Given the description of an element on the screen output the (x, y) to click on. 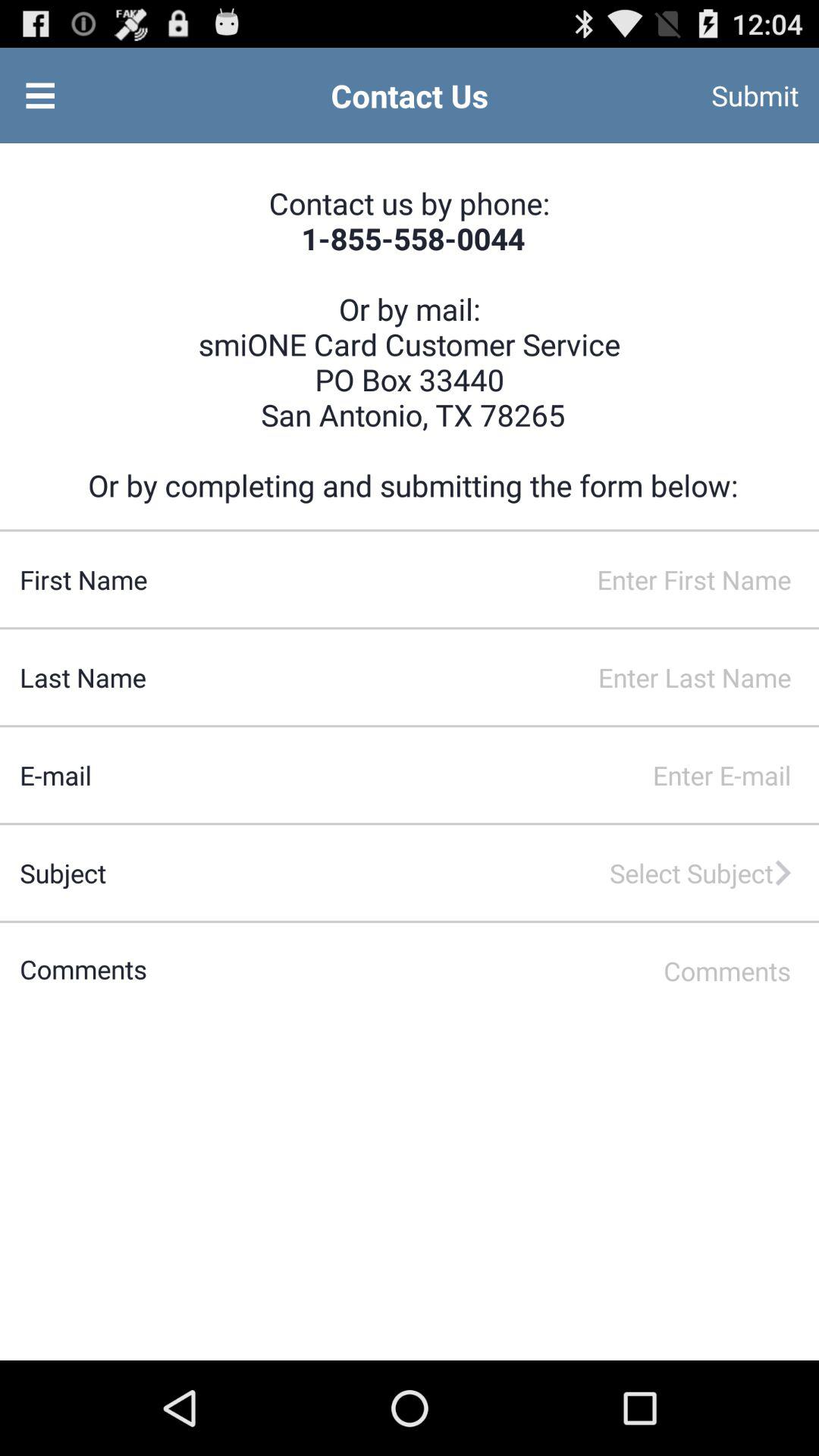
enter first name (483, 579)
